Given the description of an element on the screen output the (x, y) to click on. 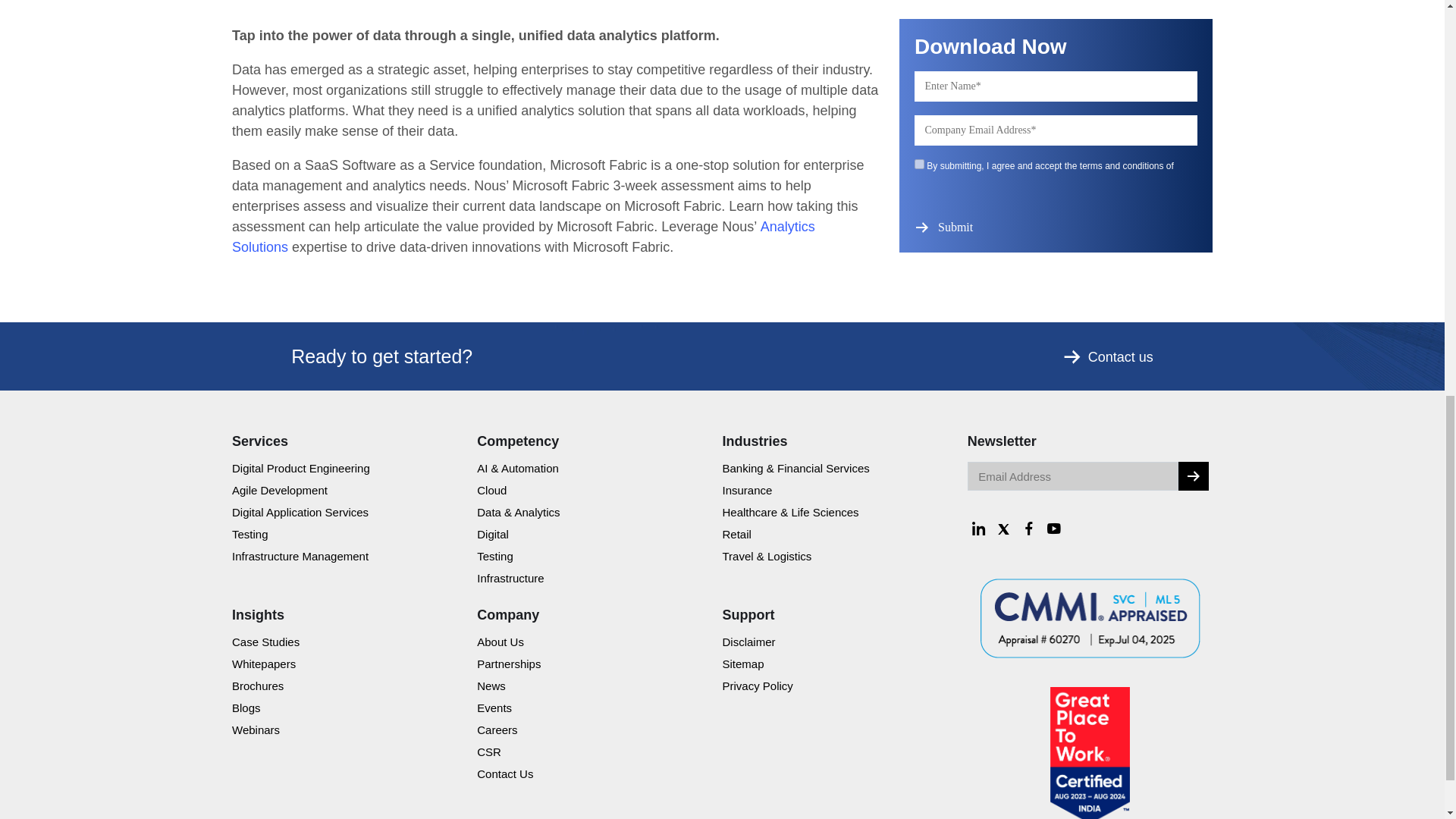
Submit (957, 226)
. (1192, 476)
